Given the description of an element on the screen output the (x, y) to click on. 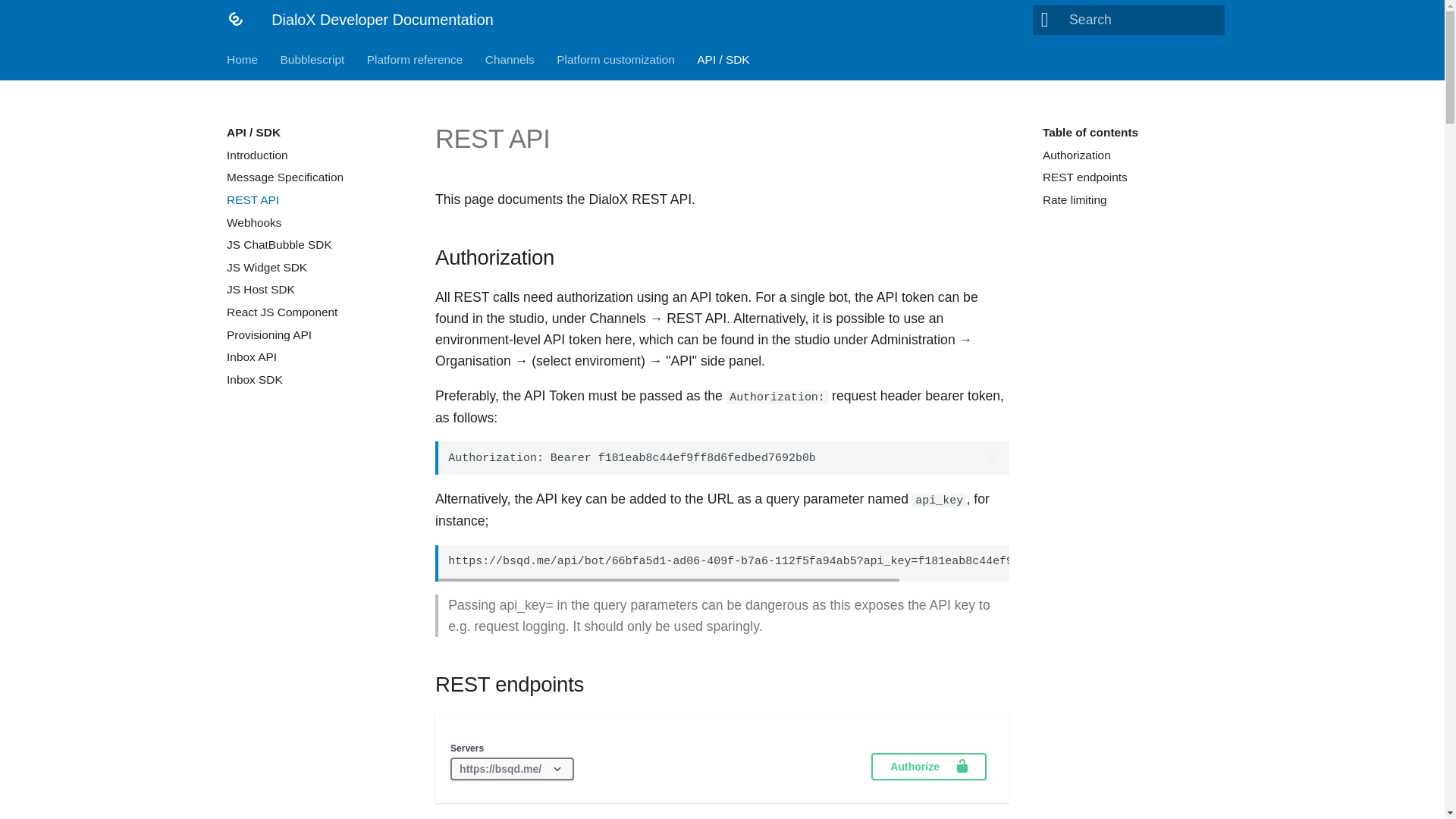
Channels (509, 59)
Channels (509, 59)
Bubblescript (313, 59)
Platform customization (615, 59)
Platform reference (414, 59)
Home (242, 59)
Platform reference (414, 59)
Home (1129, 171)
Bubblescript (242, 59)
